Given the description of an element on the screen output the (x, y) to click on. 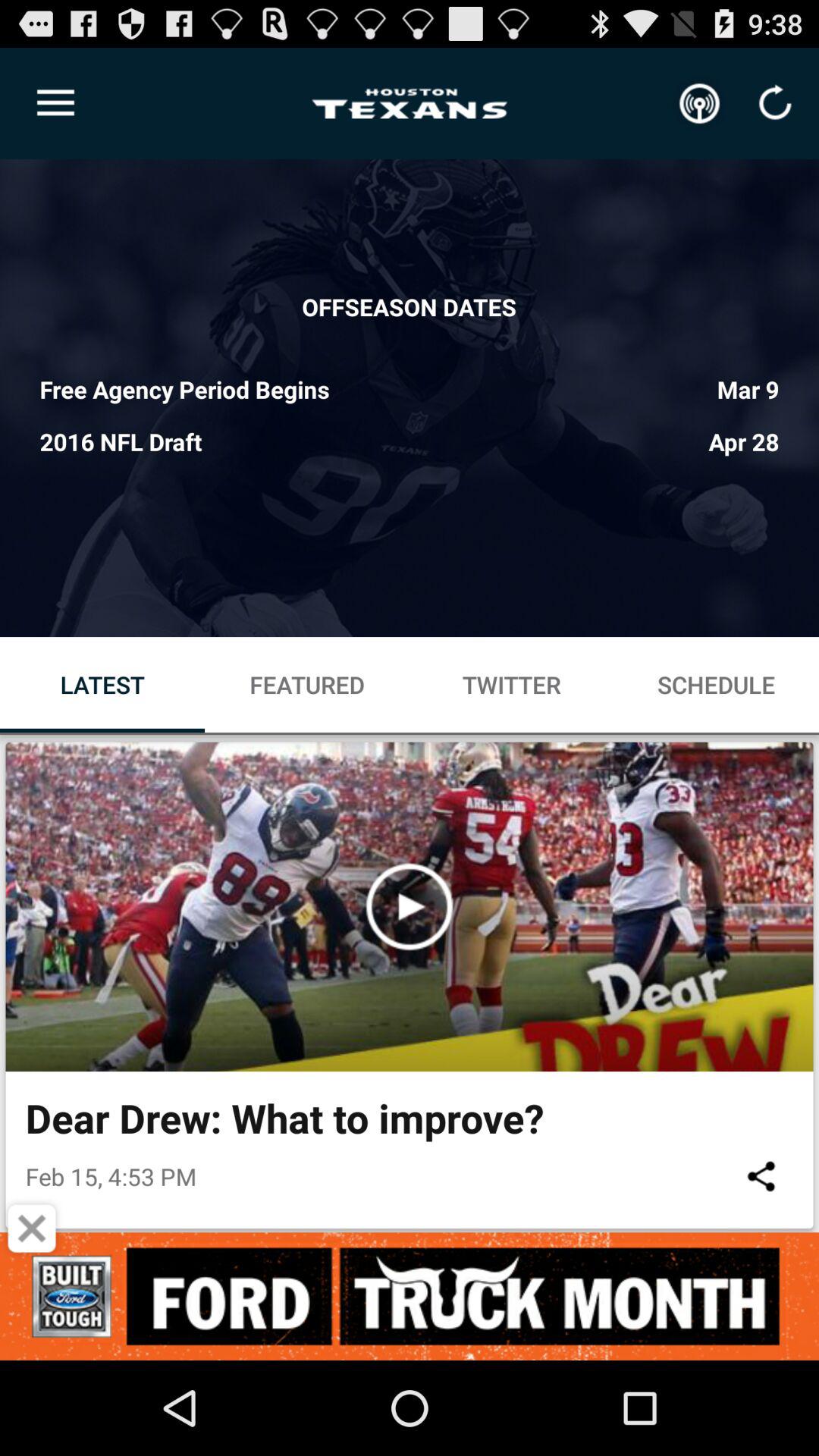
click the refresh icon (774, 103)
click on the video below the latest tab (409, 906)
click on the hotspot icon which is on top (700, 103)
